Given the description of an element on the screen output the (x, y) to click on. 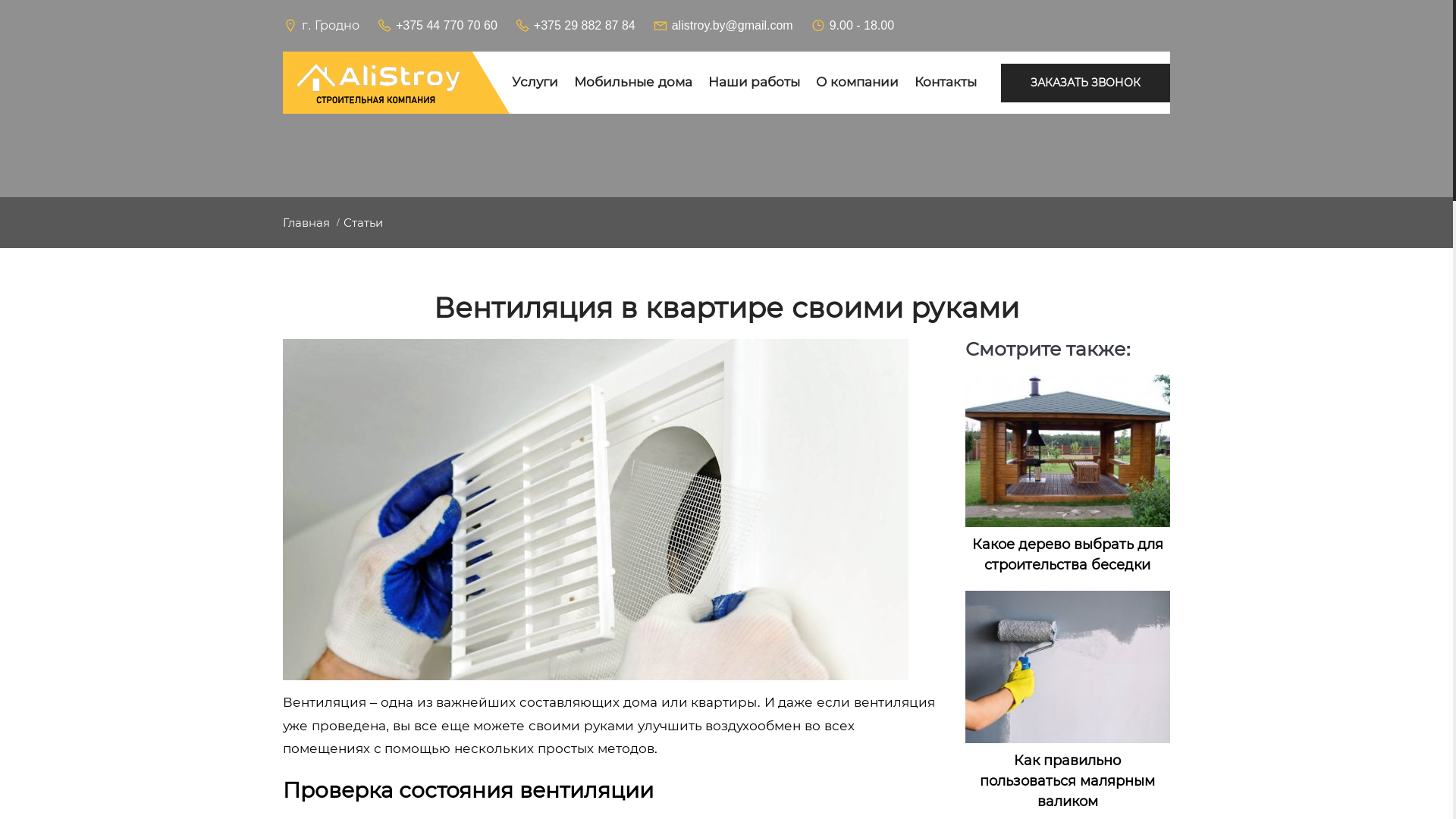
alistroy.by@gmail.com Element type: text (722, 24)
+375 44 770 70 60 Element type: text (436, 24)
+375 29 882 87 84 Element type: text (574, 24)
